Given the description of an element on the screen output the (x, y) to click on. 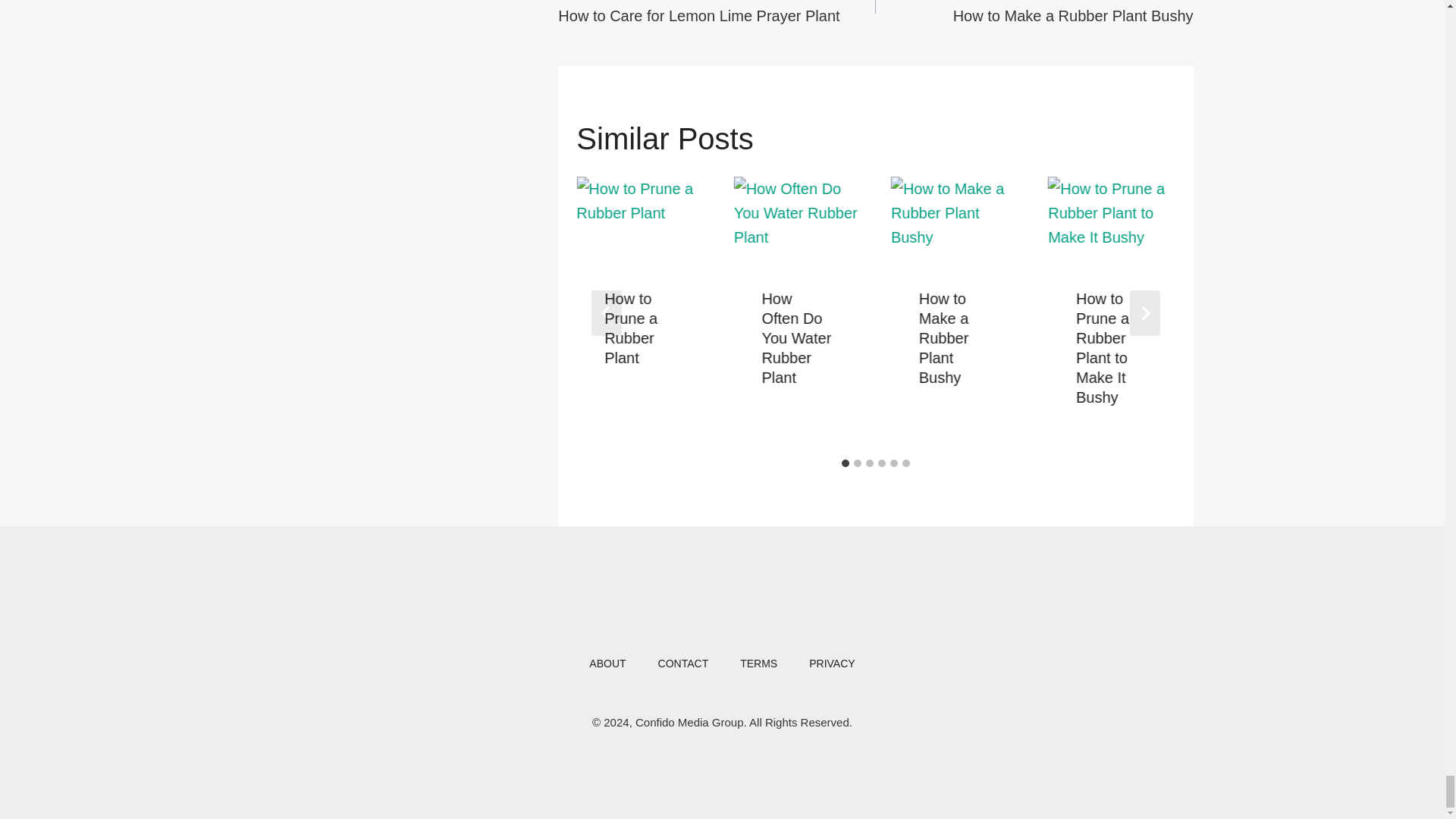
How to Make a Rubber Plant Bushy (954, 218)
How to Prune a Rubber Plant (639, 218)
How Often Do You Water Rubber Plant (796, 218)
How to Prune a Rubber Plant to Make It Bushy (1111, 218)
